Given the description of an element on the screen output the (x, y) to click on. 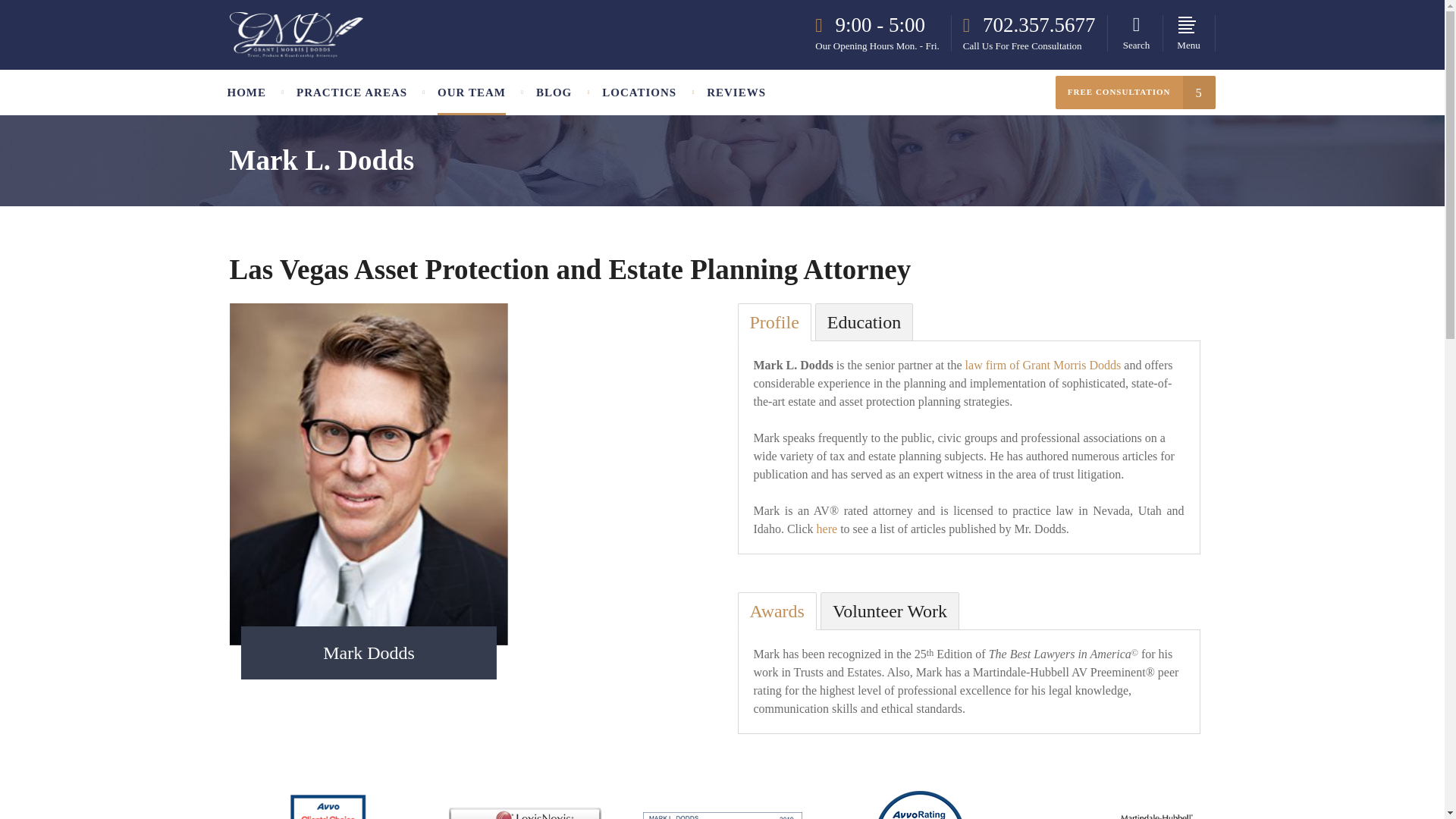
HOME (254, 92)
702.357.5677 (1029, 25)
OUR TEAM (471, 92)
Contact us now (875, 703)
Articles (827, 528)
PRACTICE AREAS (351, 92)
Search (1135, 33)
Menu (1188, 33)
